Given the description of an element on the screen output the (x, y) to click on. 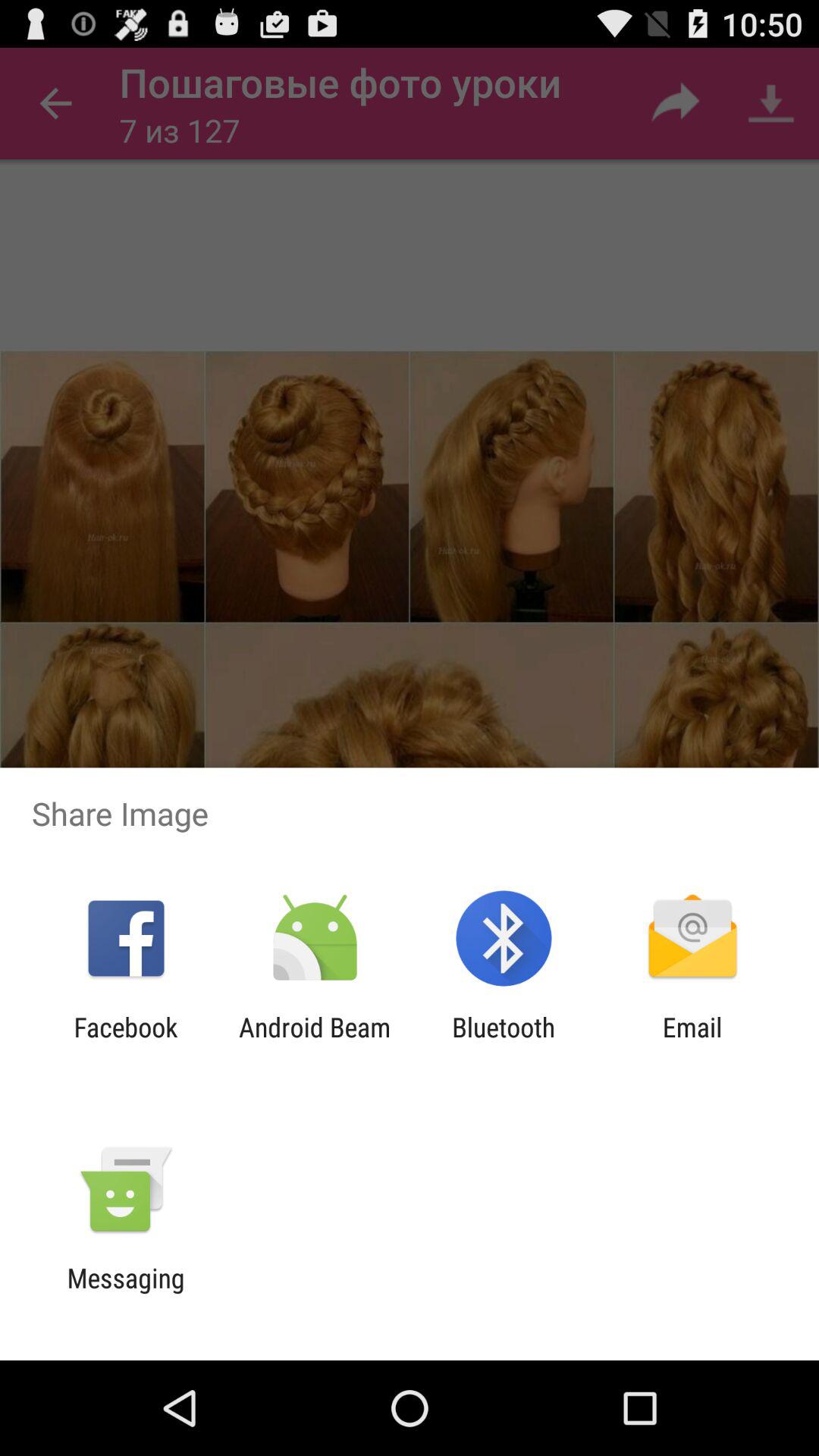
press email item (692, 1042)
